Given the description of an element on the screen output the (x, y) to click on. 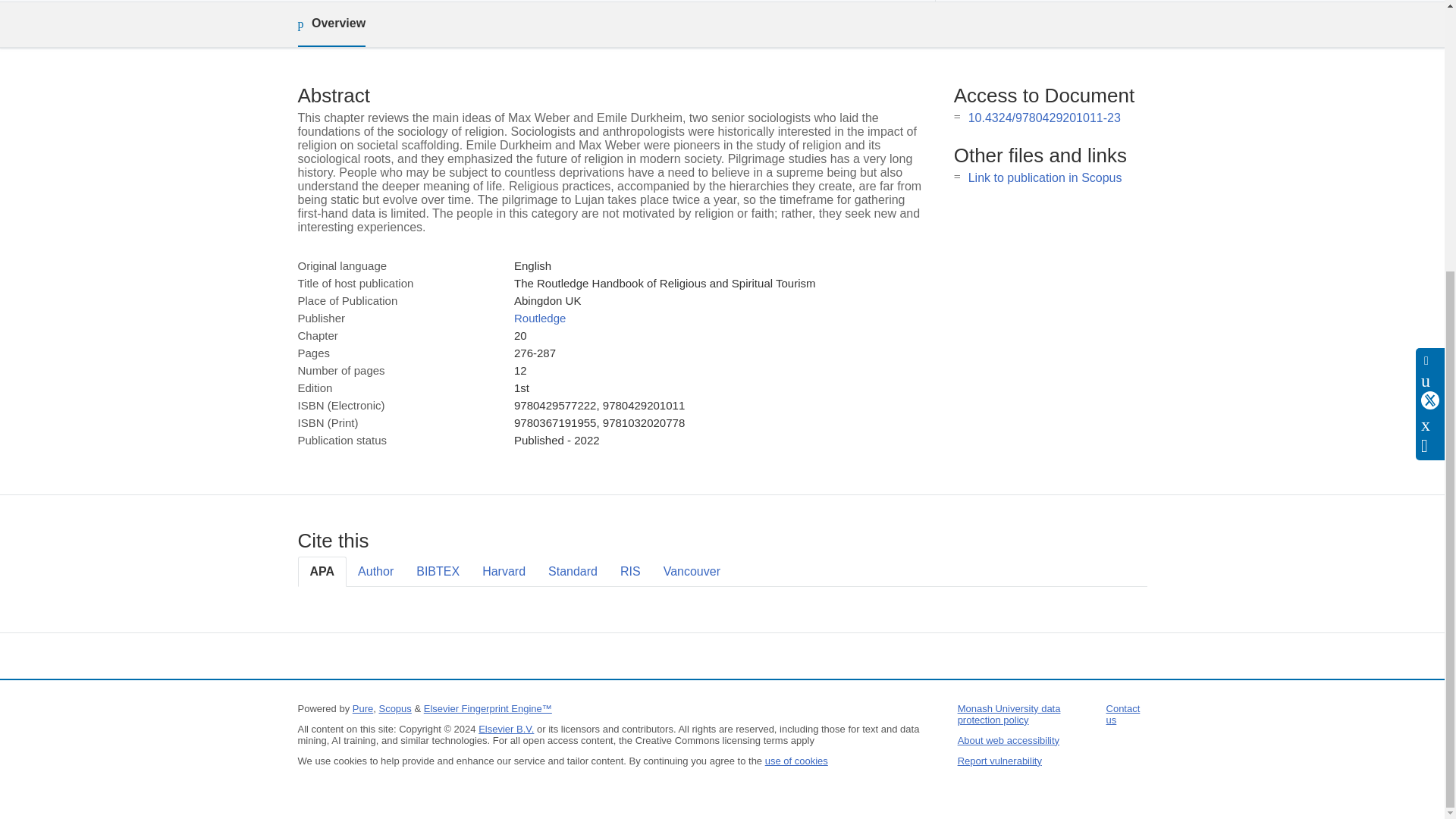
Link to publication in Scopus (1045, 177)
Pure (362, 708)
Scopus (394, 708)
Elsevier B.V. (506, 728)
Monash University data protection policy (1009, 713)
use of cookies (796, 760)
Overview (331, 24)
Routledge (539, 318)
